Given the description of an element on the screen output the (x, y) to click on. 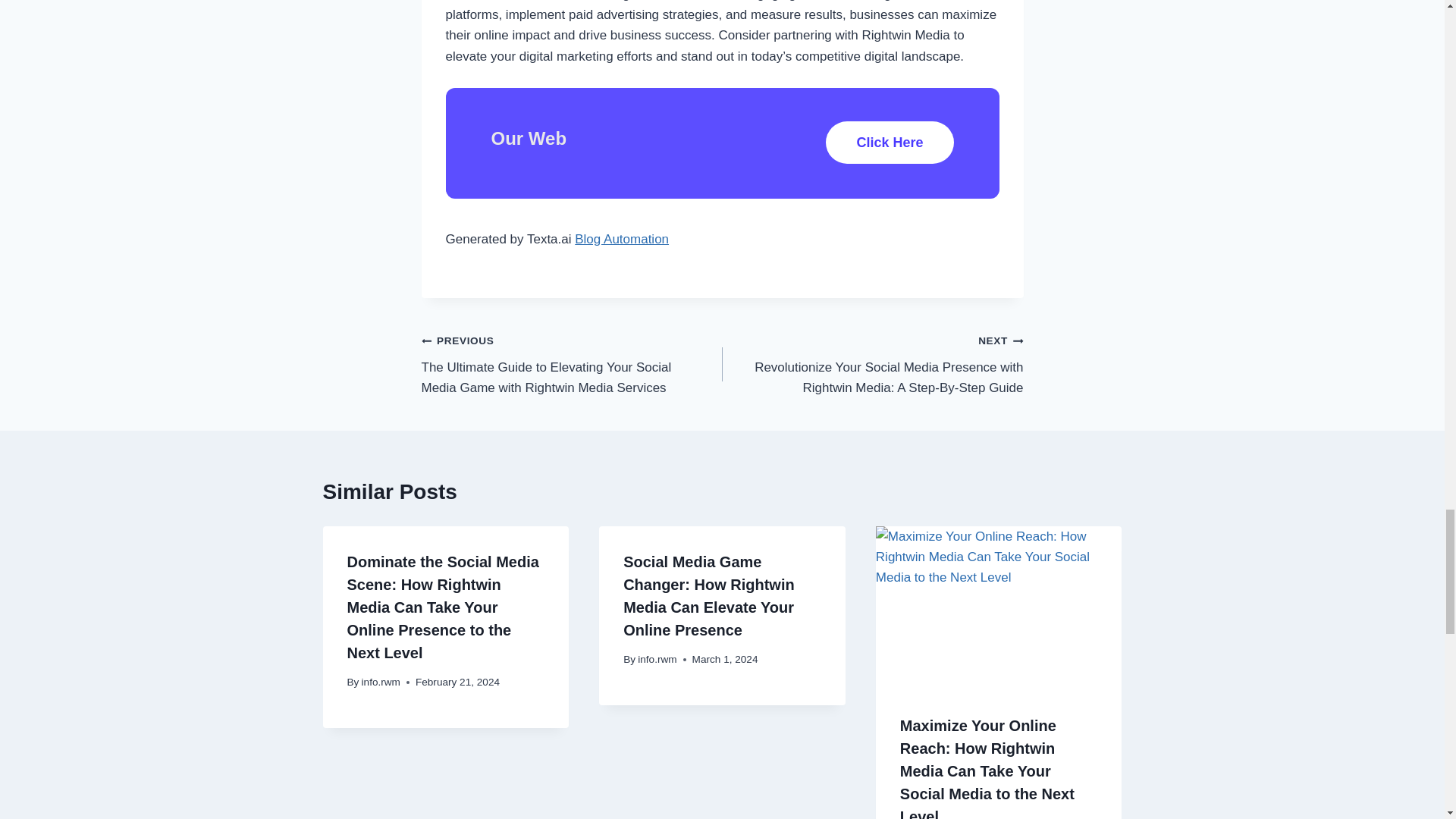
Blog Automation (621, 238)
info.rwm (380, 681)
info.rwm (657, 659)
Click Here (889, 142)
